Given the description of an element on the screen output the (x, y) to click on. 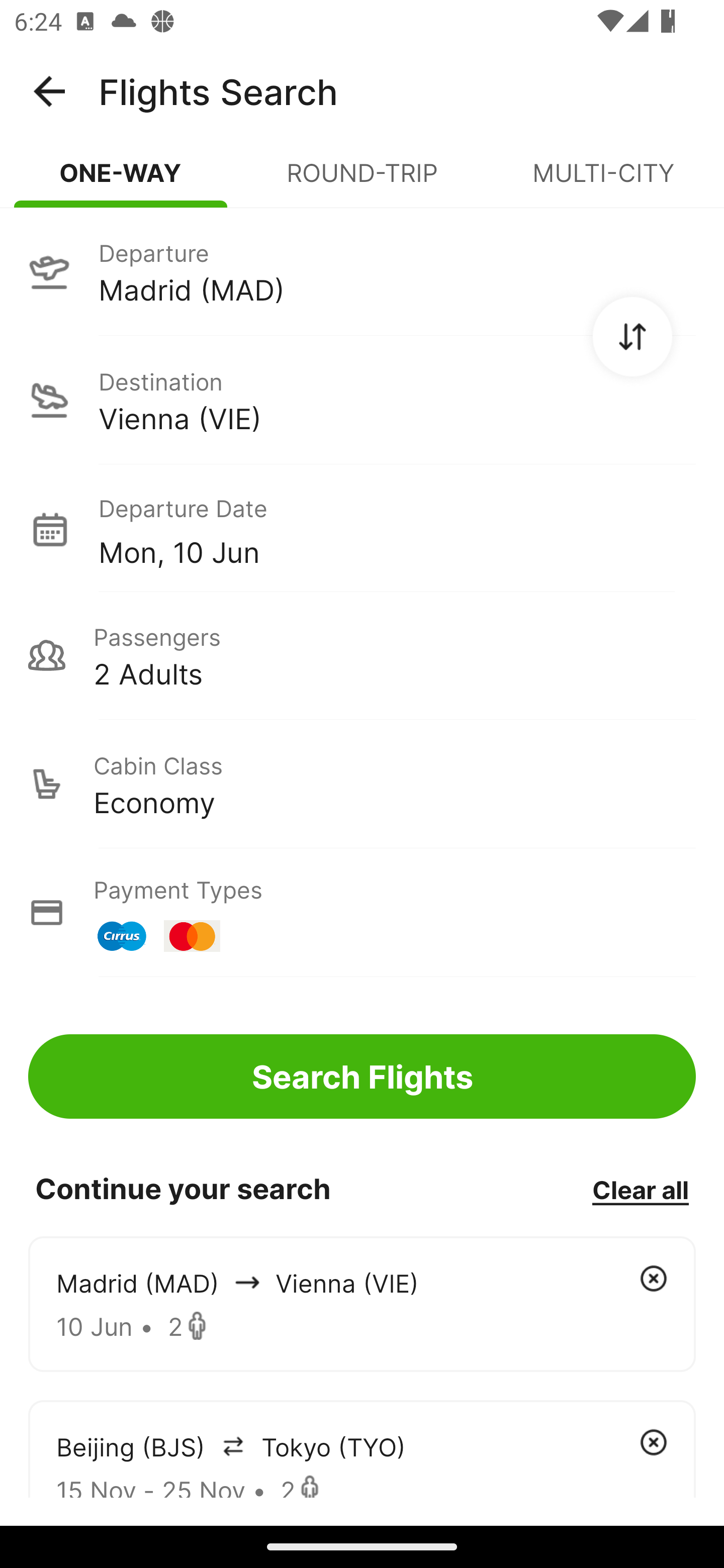
ONE-WAY (120, 180)
ROUND-TRIP (361, 180)
MULTI-CITY (603, 180)
Departure Madrid (MAD) (362, 270)
Destination Vienna (VIE) (362, 400)
Departure Date Mon, 10 Jun (396, 528)
Passengers 2 Adults (362, 655)
Cabin Class Economy (362, 783)
Payment Types (362, 912)
Search Flights (361, 1075)
Clear all (640, 1189)
Madrid (MAD)  arrowIcon  Vienna (VIE) 10 Jun •  2  (361, 1303)
